Given the description of an element on the screen output the (x, y) to click on. 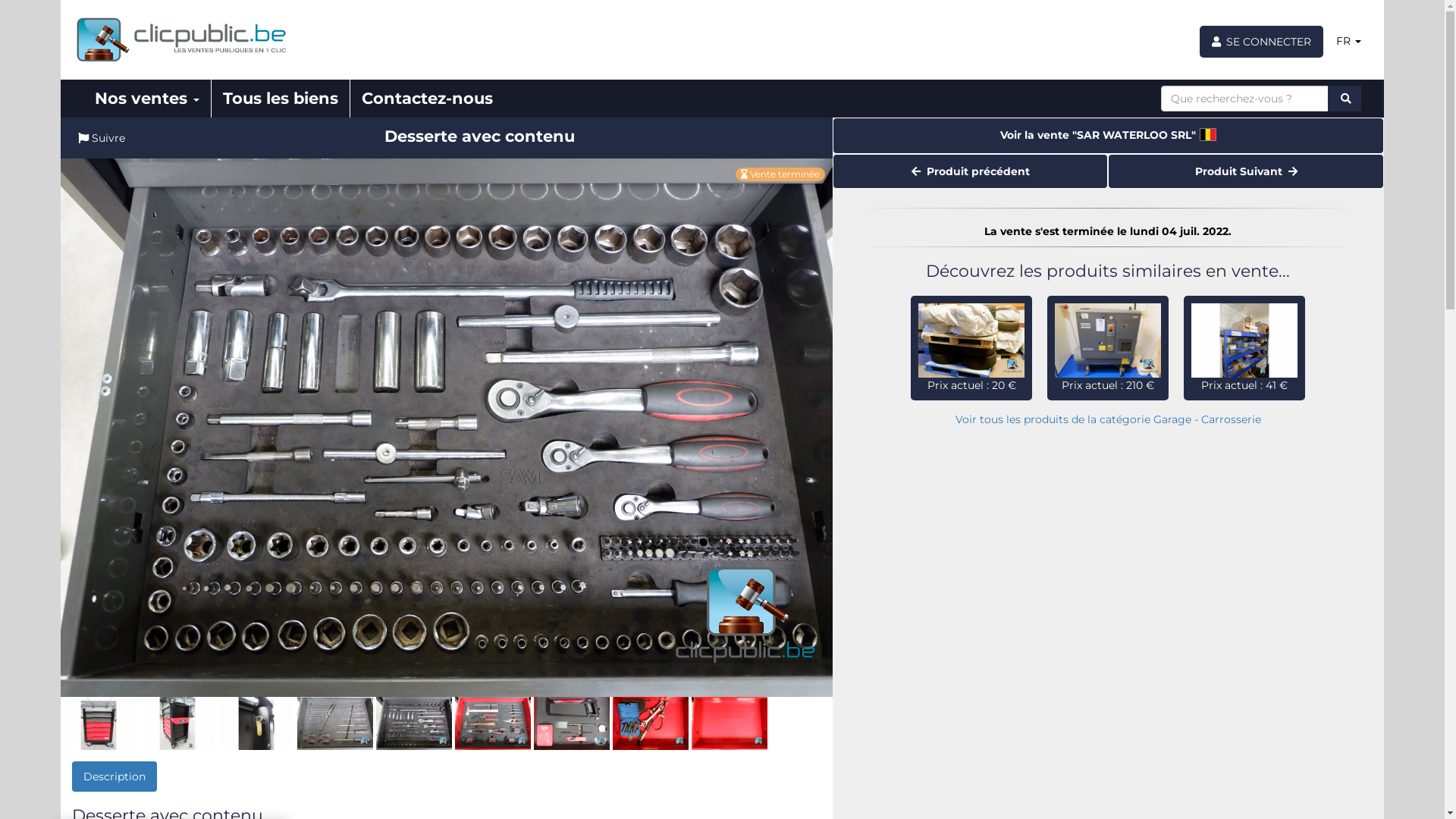
Desserte avec contenu  Element type: hover (98, 722)
Description Element type: text (114, 776)
Nos ventes Element type: text (147, 98)
Desserte avec contenu  Element type: hover (492, 722)
Desserte avec contenu  Element type: hover (571, 722)
  SE CONNECTER Element type: text (1261, 41)
Desserte avec contenu  Element type: hover (413, 722)
Desserte avec contenu  Element type: hover (335, 722)
Produit Suivant   Element type: text (1245, 170)
Lot de pneus Element type: hover (971, 340)
Voir la vente "SAR WATERLOO SRL" Element type: text (1107, 135)
Rack avec contenu Element type: hover (1244, 340)
Rechercher Element type: hover (1344, 98)
Desserte avec contenu  Element type: hover (446, 427)
Compresseur Element type: hover (1107, 340)
  Element type: text (1344, 98)
FR Element type: text (1348, 40)
Contactez-nous Element type: text (427, 98)
Desserte avec contenu  Element type: hover (650, 722)
Tous les biens Element type: text (280, 98)
Desserte avec contenu  Element type: hover (177, 722)
Desserte avec contenu  Element type: hover (256, 722)
Desserte avec contenu  Element type: hover (729, 722)
Suivre Element type: text (101, 137)
